Given the description of an element on the screen output the (x, y) to click on. 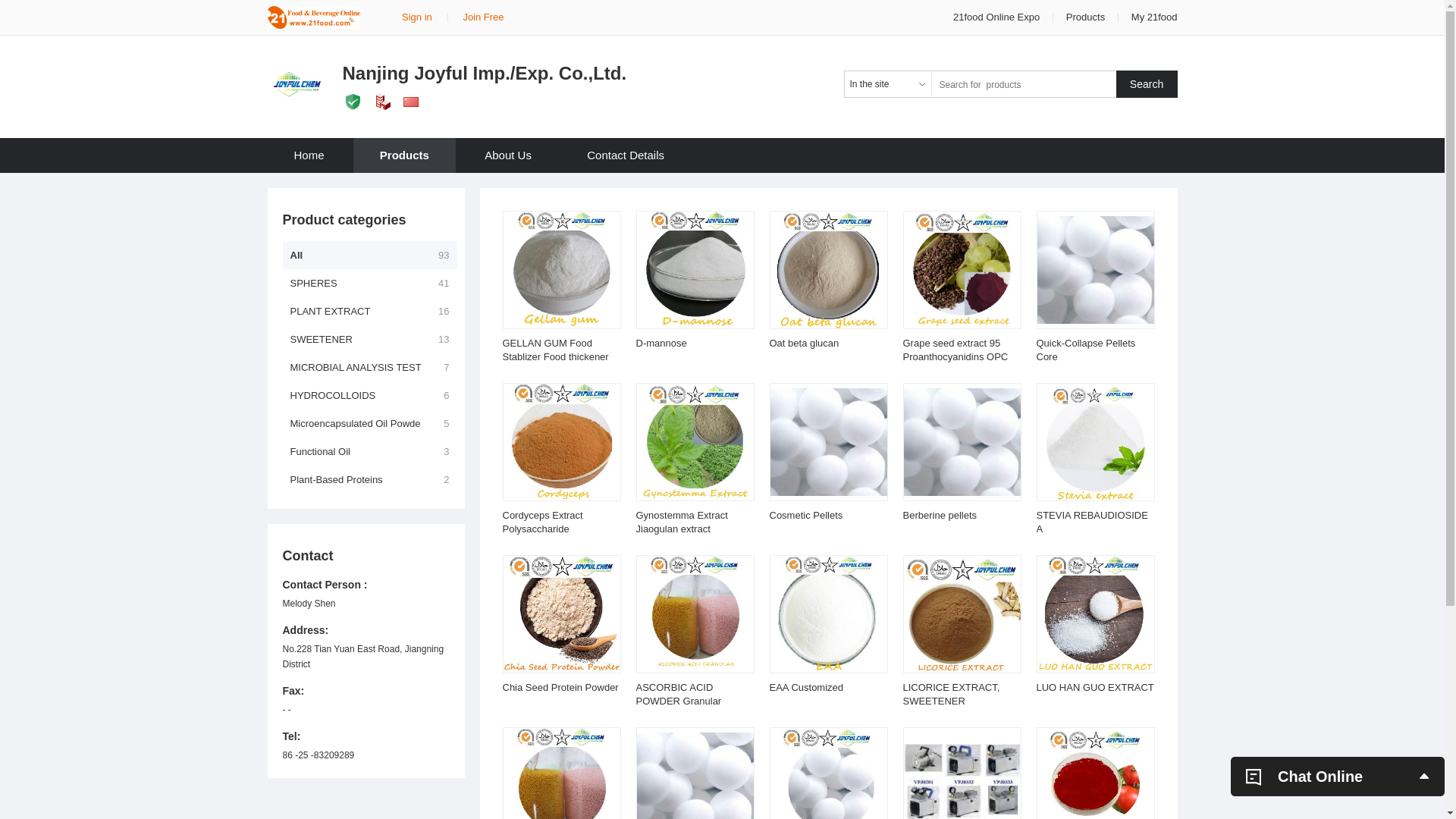
Products Element type: text (404, 155)
GELLAN GUM Food Stablizer Food thickener Element type: text (555, 349)
LICORICE EXTRACT, SWEETENER Element type: text (950, 693)
D-mannose Element type: text (660, 342)
Gynostemma Extract Jiaogulan extract Gypenosides 20~98 Element type: text (681, 528)
Quick-Collapse Pellets Core Element type: text (1085, 349)
Cordyceps Extract Polysaccharide Element type: text (542, 521)
Join Free Element type: text (482, 16)
21food Online Expo Element type: text (997, 16)
Products Element type: text (1085, 16)
Oat beta glucan Element type: text (803, 342)
STEVIA REBAUDIOSIDE A Element type: text (1091, 521)
ASCORBIC ACID POWDER Granular Element type: text (678, 693)
Contact Details Element type: text (625, 155)
Grape seed extract 95 Proanthocyanidins OPC Element type: text (954, 349)
Cosmetic Pellets Element type: text (805, 514)
Chia Seed Protein Powder Element type: text (560, 687)
Berberine pellets Element type: text (939, 514)
About Us Element type: text (508, 155)
Home Element type: text (308, 155)
My 21food Element type: text (1154, 16)
Search Element type: text (1146, 83)
EAA Customized Element type: text (805, 687)
LUO HAN GUO EXTRACT Element type: text (1094, 687)
Sign in Element type: text (416, 16)
